Given the description of an element on the screen output the (x, y) to click on. 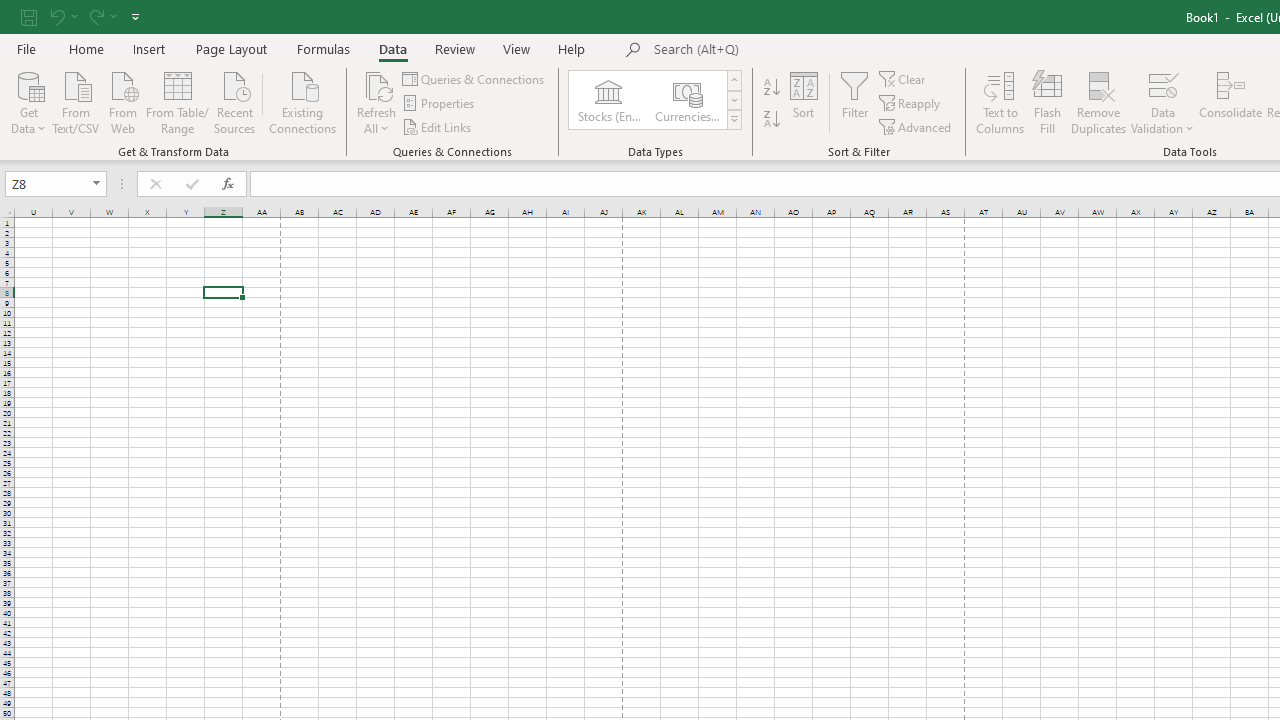
Edit Links (438, 126)
Class: NetUIImage (734, 119)
Text to Columns... (1000, 102)
Row Down (734, 100)
Stocks (English) (608, 100)
Sort Z to A (772, 119)
Row up (734, 79)
Flash Fill (1047, 102)
Reapply (911, 103)
